Given the description of an element on the screen output the (x, y) to click on. 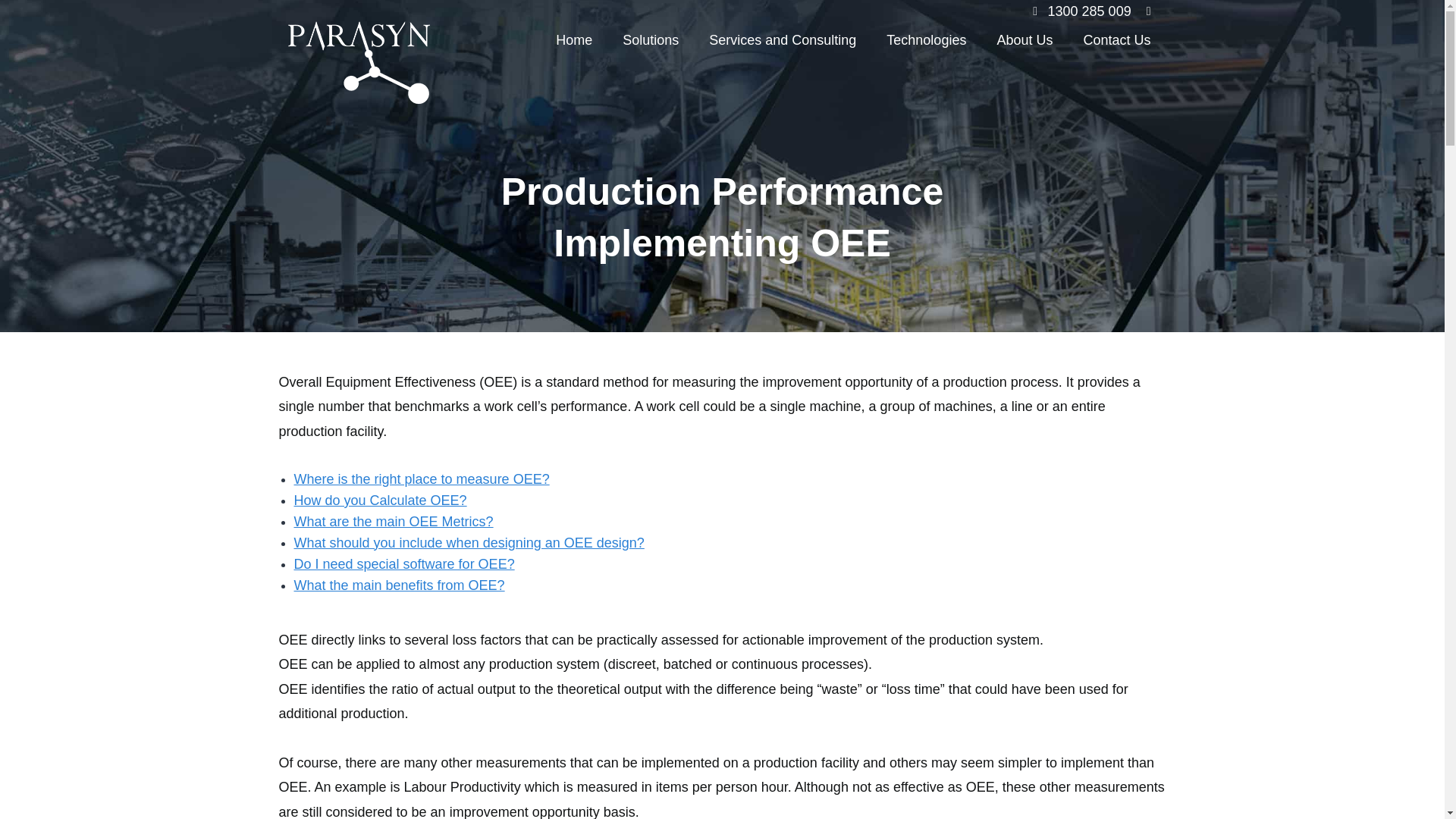
How do you Calculate OEE? (380, 500)
Technologies (925, 40)
Contact Us (1116, 40)
Solutions (650, 40)
Where is the right place to measure OEE? (422, 478)
About Us (1024, 40)
Go! (26, 18)
What should you include when designing an OEE design? (469, 542)
Services and Consulting (782, 40)
What are the main OEE Metrics? (393, 521)
Home (573, 40)
Do I need special software for OEE? (404, 563)
What the main benefits from OEE? (399, 585)
